Given the description of an element on the screen output the (x, y) to click on. 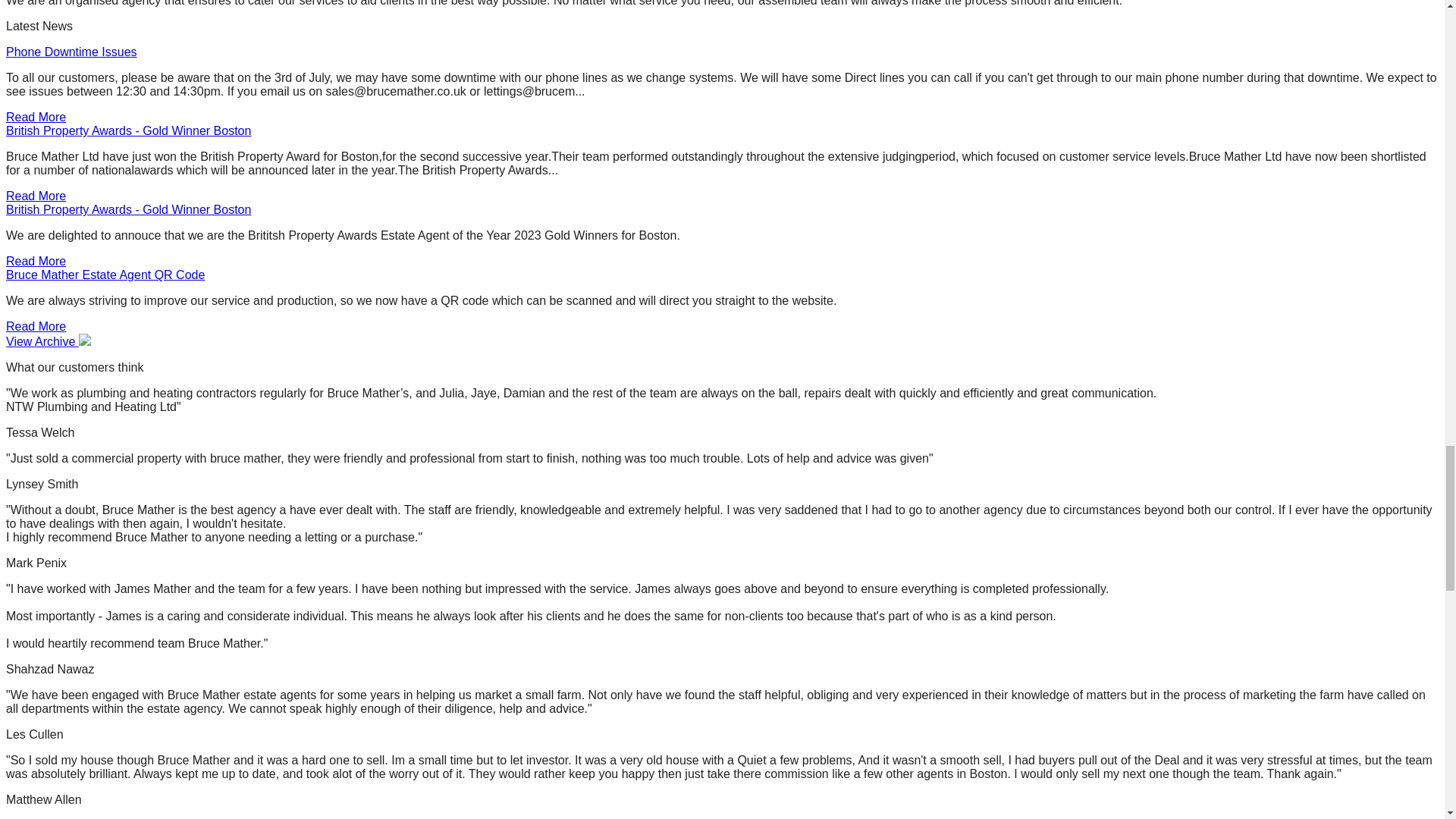
Bruce Mather Estate Agent QR Code (105, 274)
British Property Awards - Gold Winner Boston (127, 130)
British Property Awards - Gold Winner Boston (127, 209)
Phone Downtime Issues (70, 51)
